Given the description of an element on the screen output the (x, y) to click on. 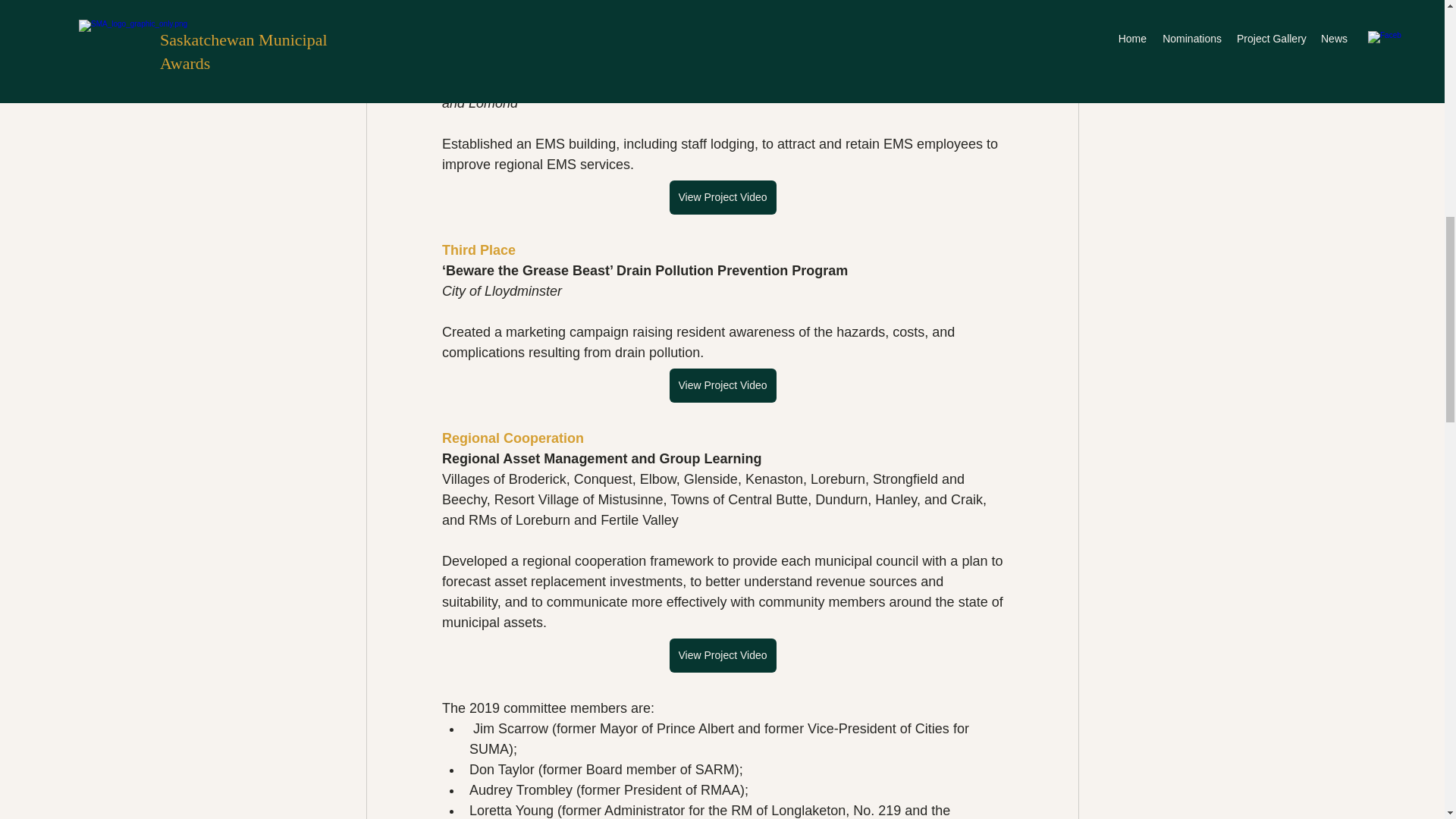
View Project Video (722, 655)
View Project Video (722, 385)
View Project Video (722, 2)
View Project Video (722, 197)
